Given the description of an element on the screen output the (x, y) to click on. 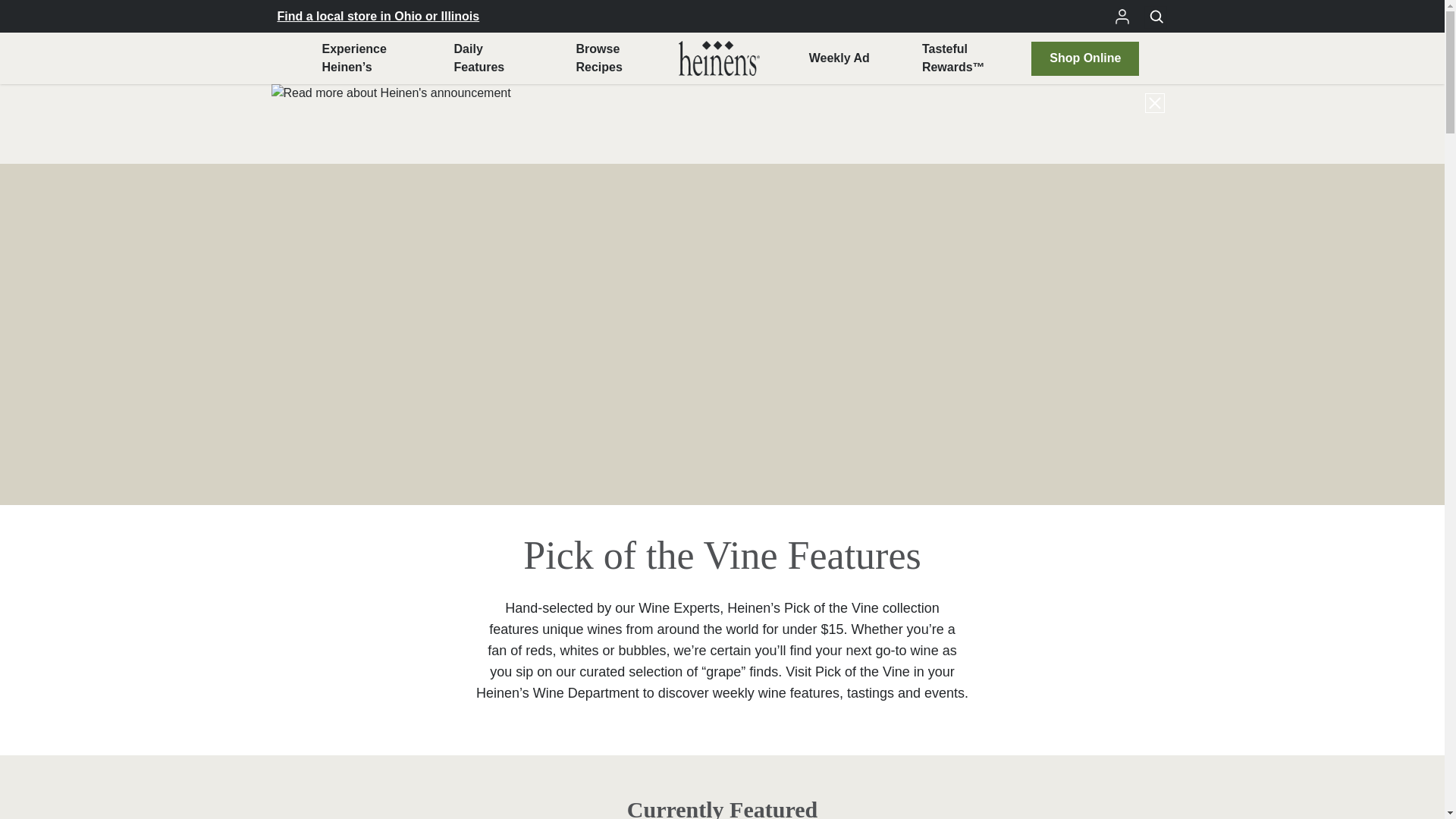
Shop Online (1084, 57)
Weekly Ad (839, 58)
Find a local store in Ohio or Illinois (598, 58)
